Given the description of an element on the screen output the (x, y) to click on. 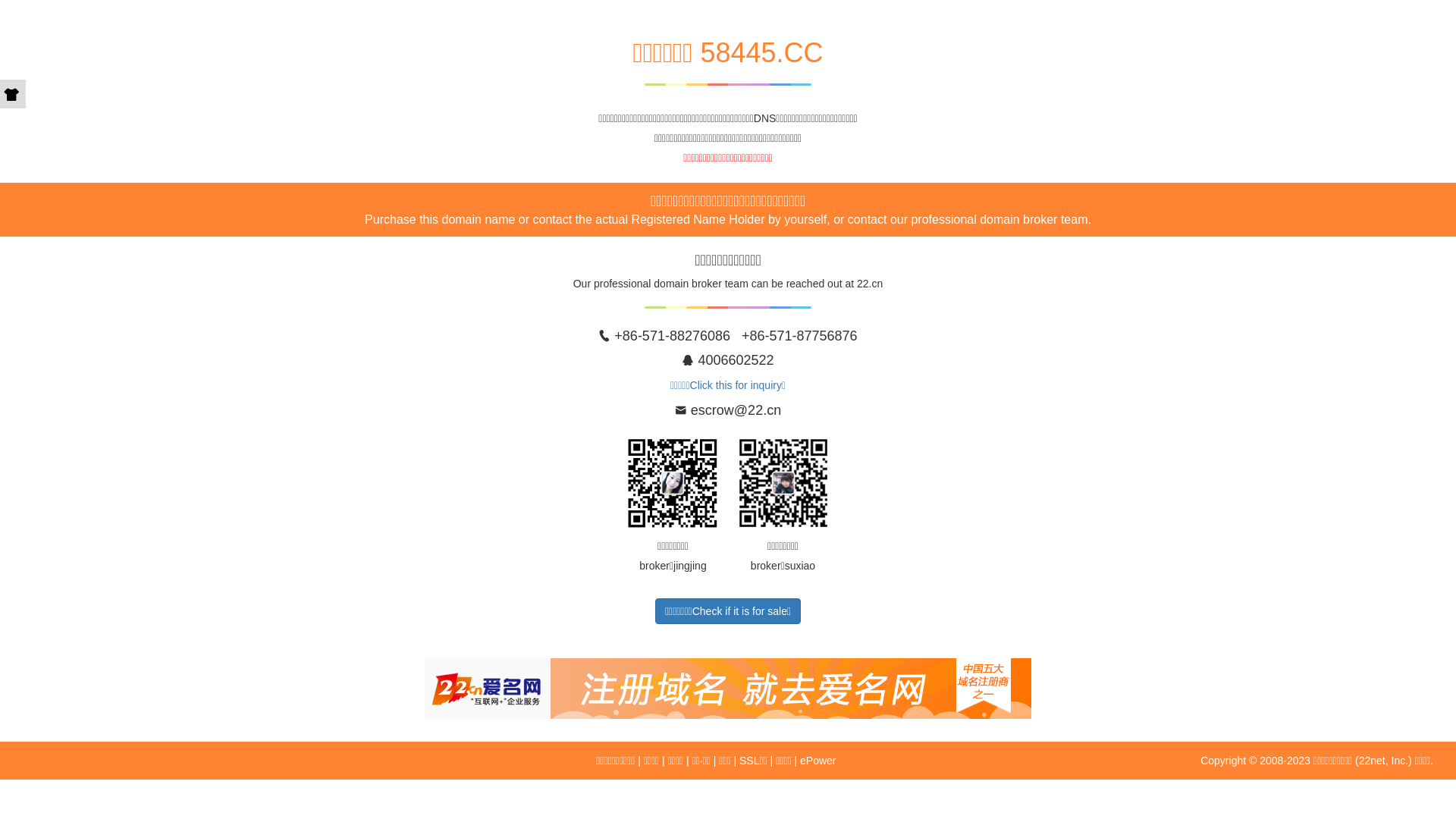
ePower Element type: text (817, 760)
